Given the description of an element on the screen output the (x, y) to click on. 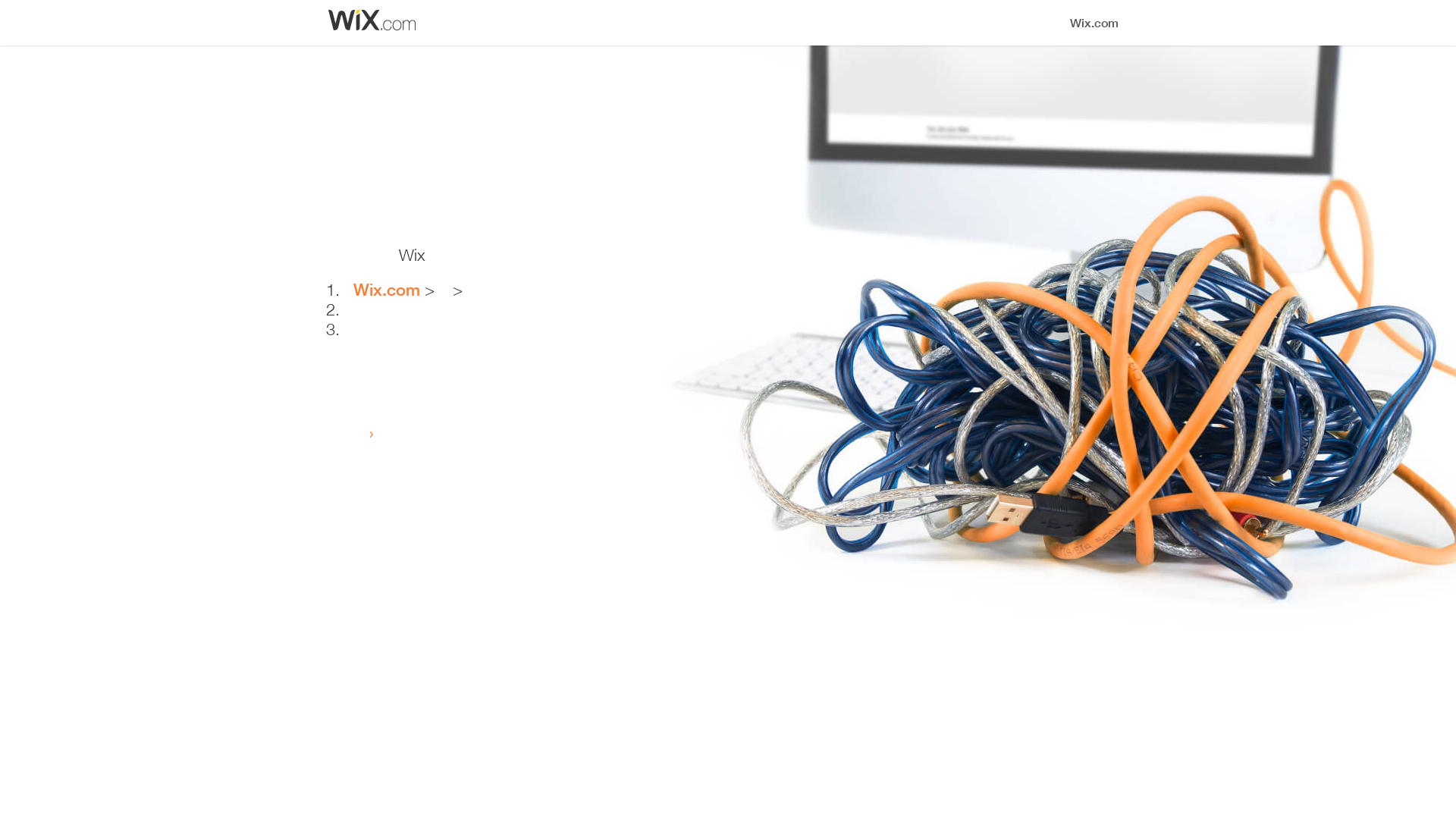
Wix.com Element type: text (386, 289)
